Given the description of an element on the screen output the (x, y) to click on. 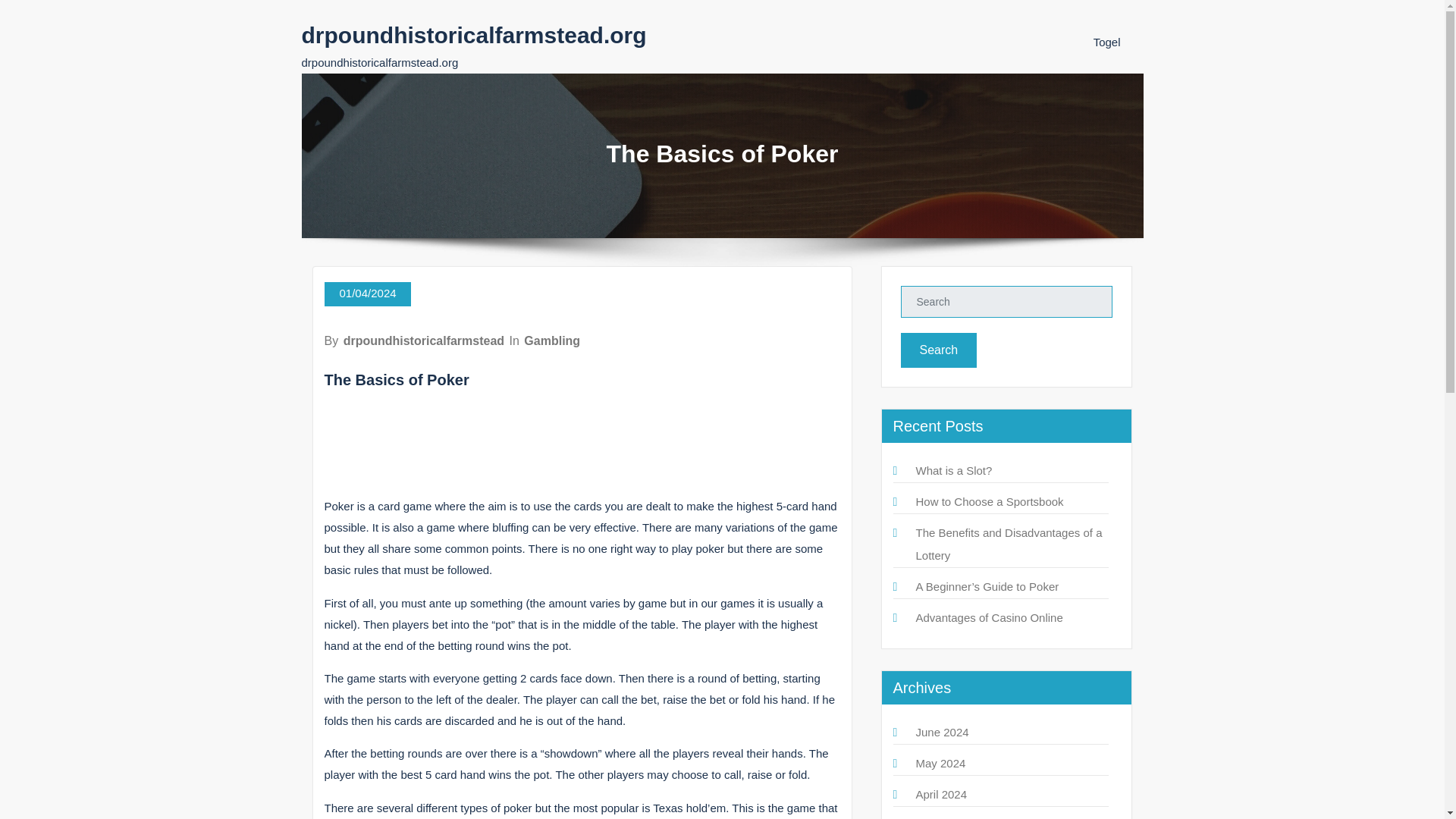
How to Choose a Sportsbook (989, 501)
April 2024 (941, 793)
May 2024 (940, 762)
drpoundhistoricalfarmstead.org (473, 34)
The Benefits and Disadvantages of a Lottery (1008, 543)
What is a Slot? (953, 470)
Search (938, 349)
Gambling (551, 340)
June 2024 (942, 731)
Advantages of Casino Online (988, 617)
